Given the description of an element on the screen output the (x, y) to click on. 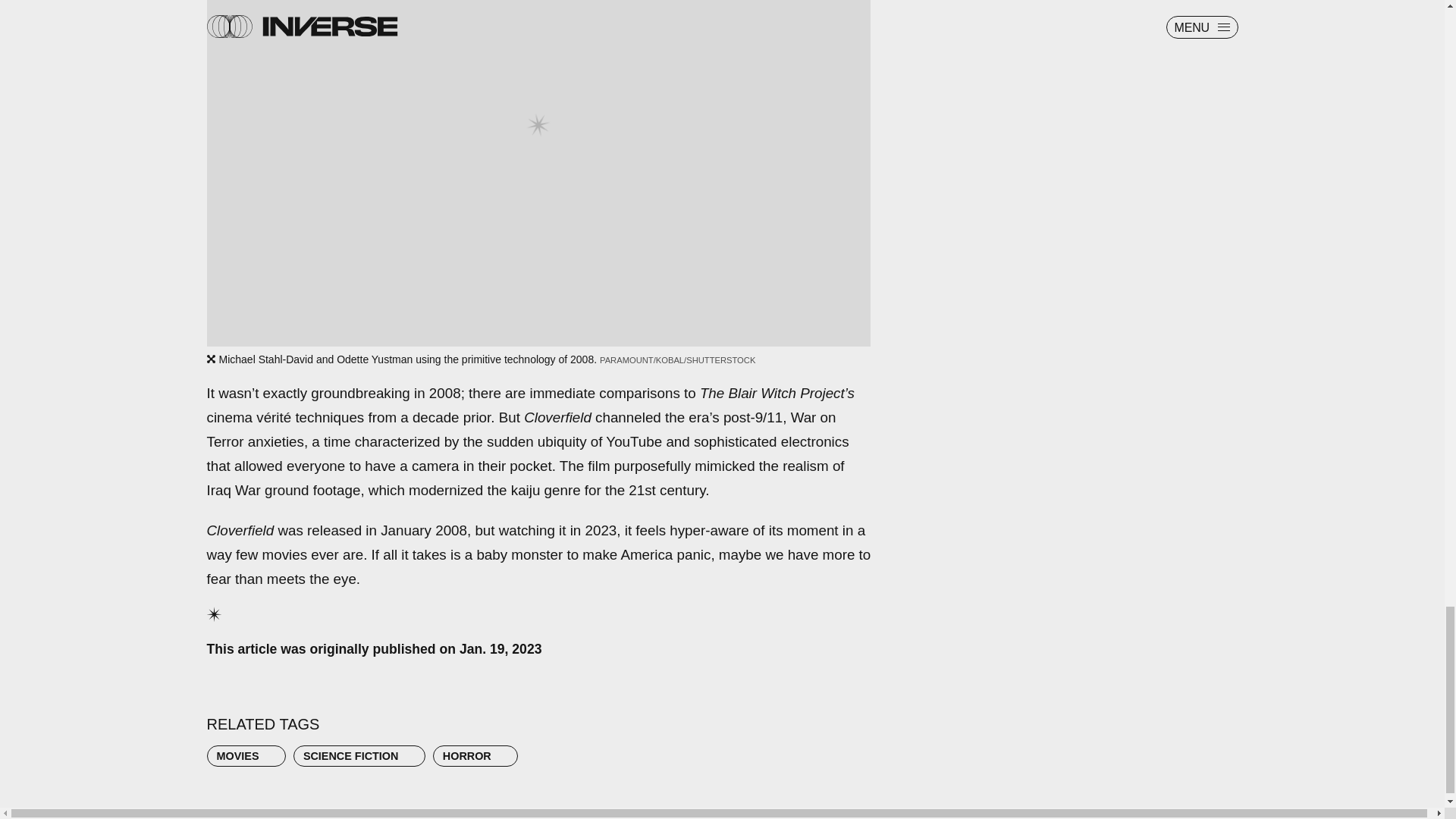
HORROR (475, 755)
MOVIES (245, 755)
SCIENCE FICTION (359, 755)
